Given the description of an element on the screen output the (x, y) to click on. 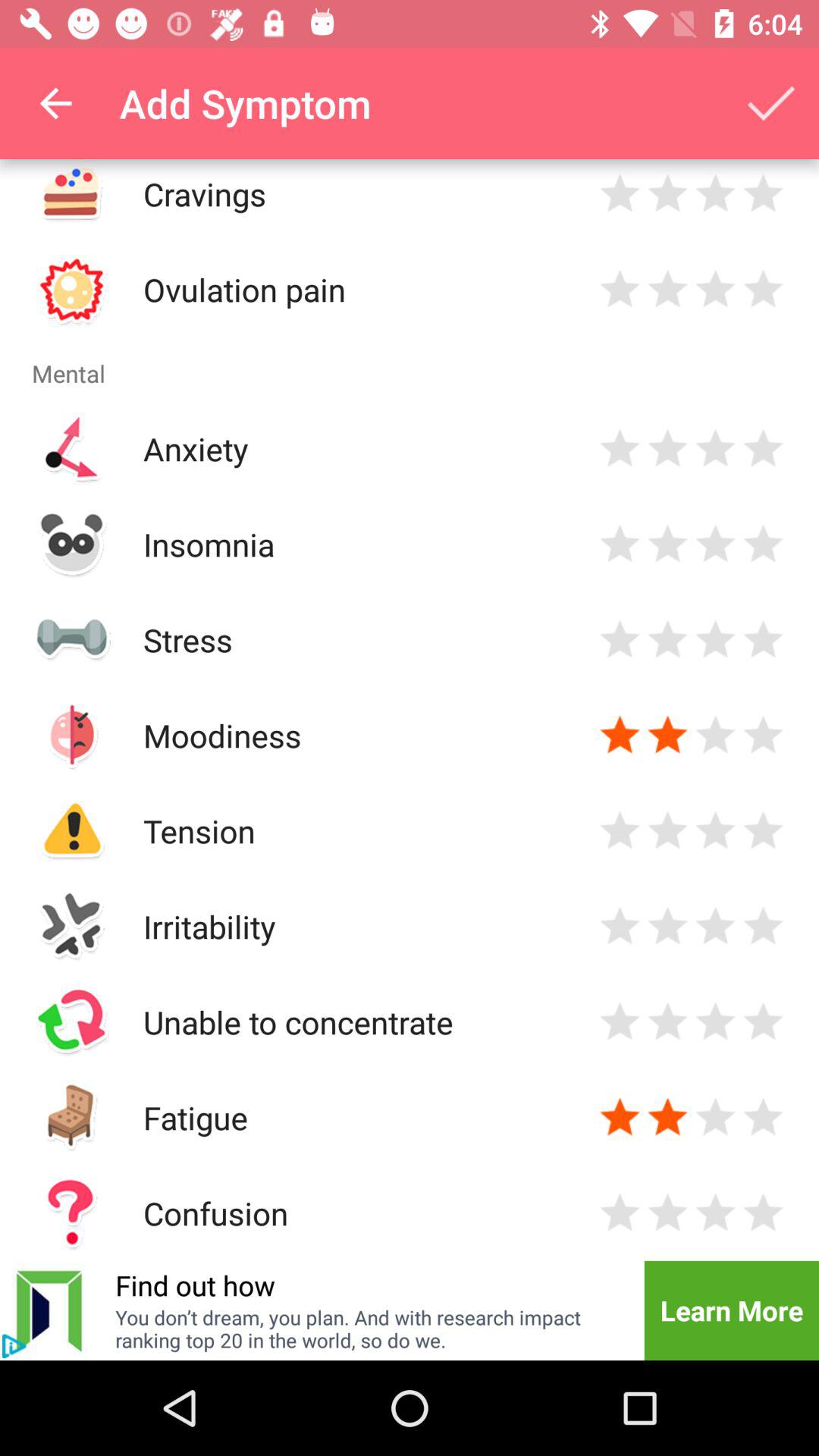
turn on the item to the right of add symptom icon (771, 103)
